Given the description of an element on the screen output the (x, y) to click on. 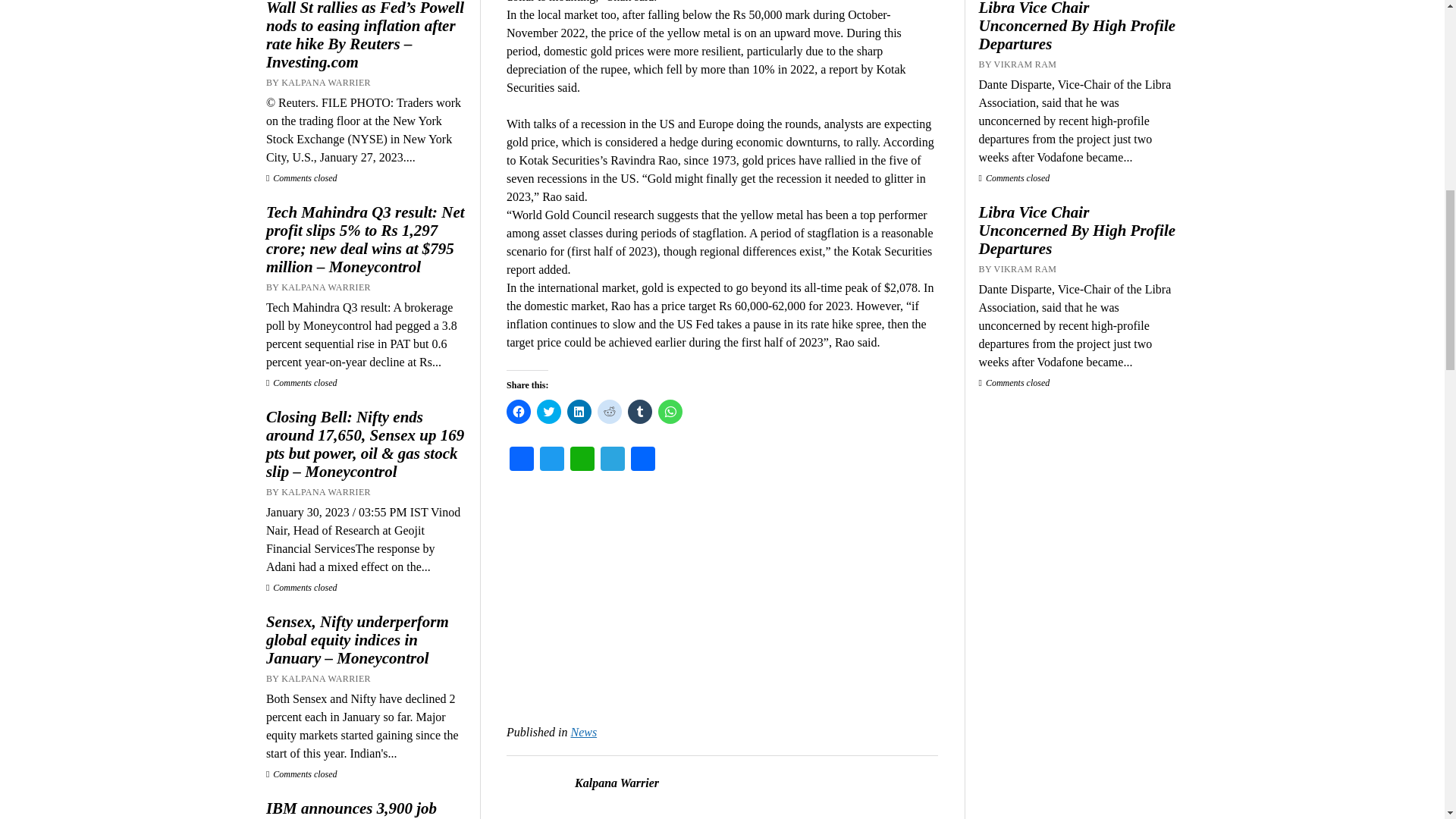
Comments closed (301, 587)
Comments closed (301, 177)
Comments closed (301, 382)
Comments closed (301, 774)
